Given the description of an element on the screen output the (x, y) to click on. 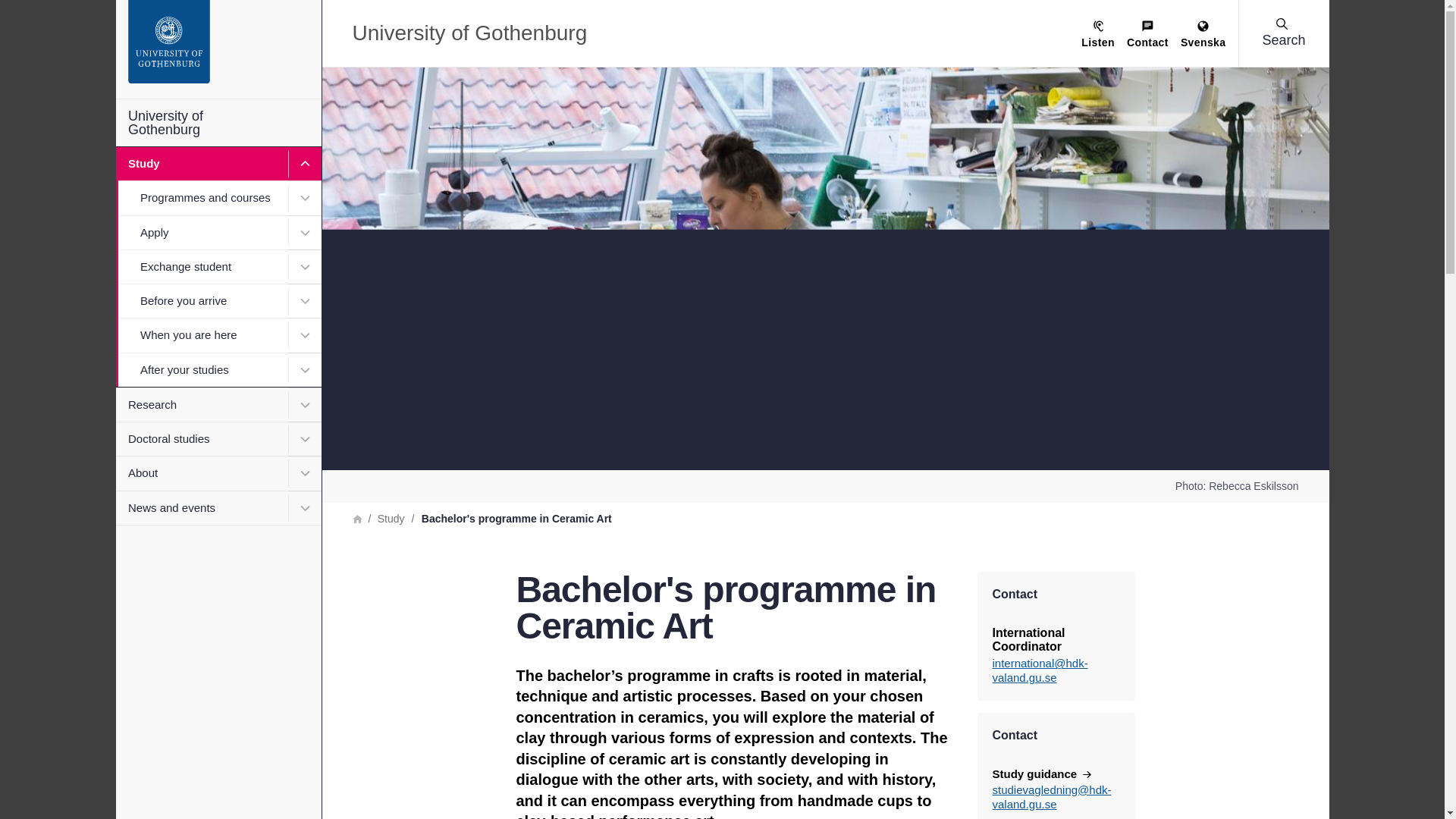
Submenu for Apply (304, 232)
University of Gothenburg (217, 122)
Submenu for Programmes and courses (304, 197)
Study (217, 163)
Listen with ReadSpeaker (1098, 35)
Programmes and courses (217, 197)
Search function (105, 11)
Apply (217, 232)
Submenu for Study (304, 163)
